Given the description of an element on the screen output the (x, y) to click on. 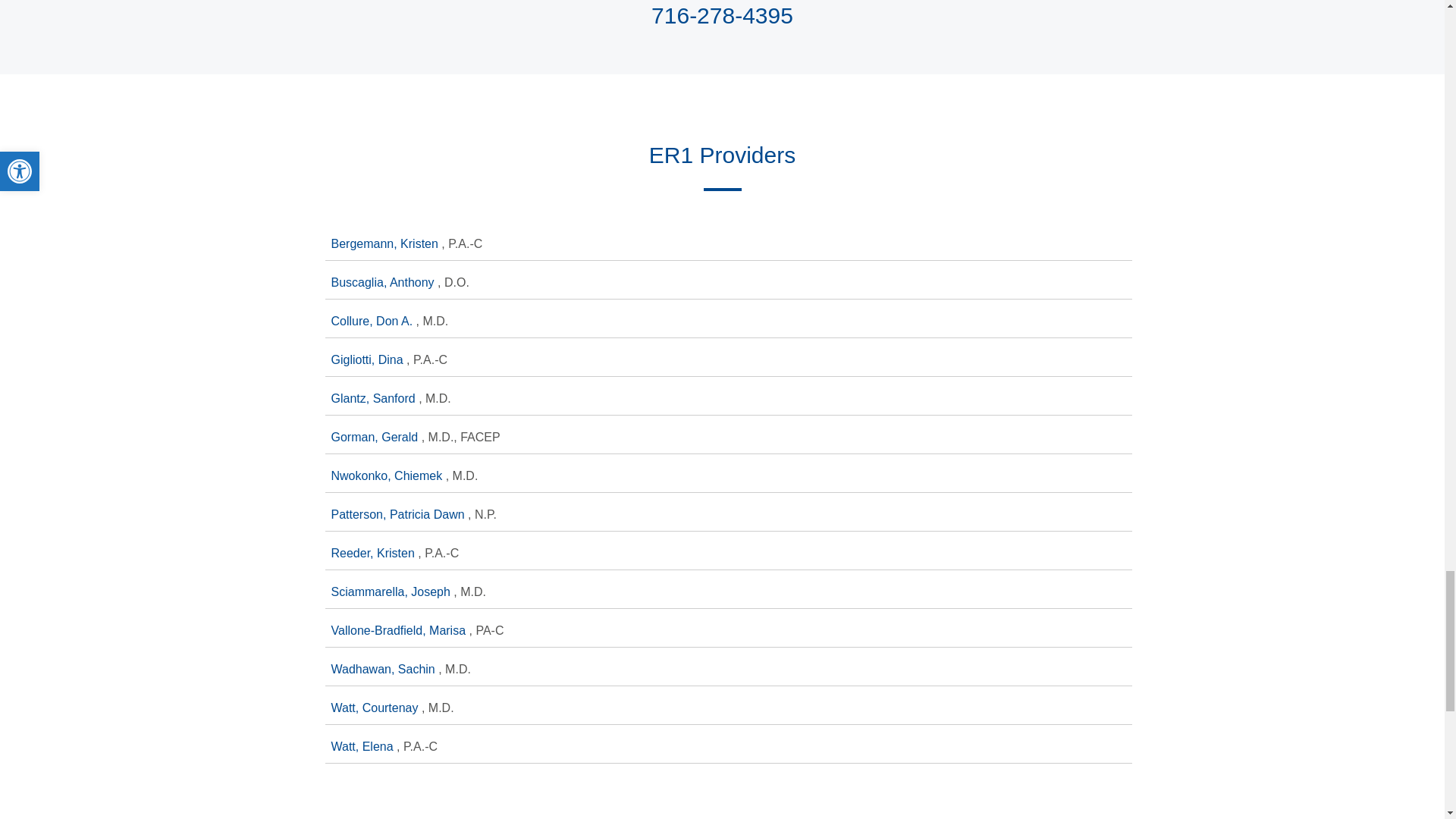
Collure,   Don A. (372, 320)
Gigliotti,   Dina (368, 359)
Bergemann,   Kristen (385, 243)
Glantz,   Sanford (374, 398)
Gorman,   Gerald (375, 436)
Buscaglia,   Anthony (384, 282)
